Given the description of an element on the screen output the (x, y) to click on. 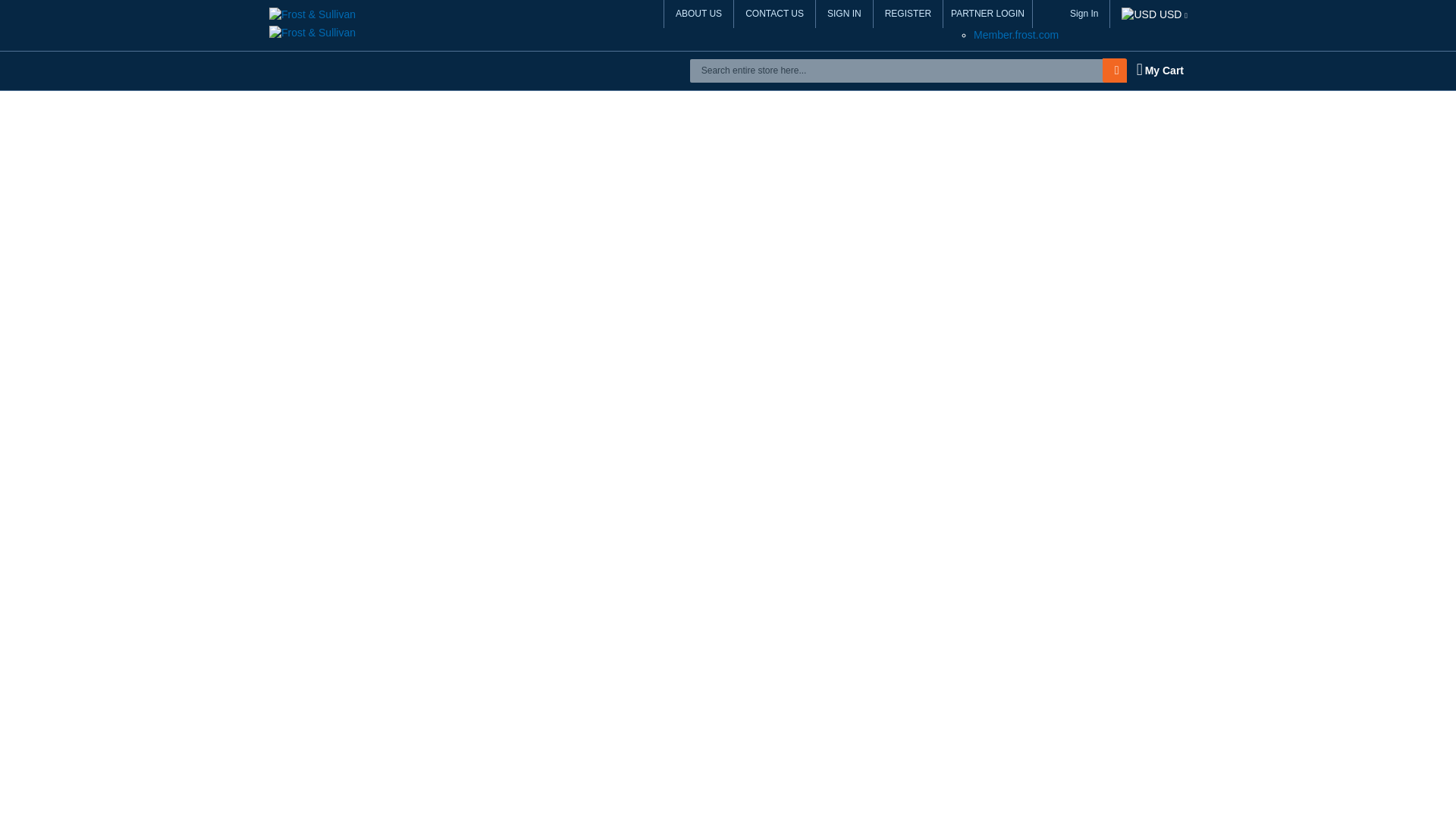
REGISTER (908, 13)
CONTACT US (774, 13)
Sign In (1083, 13)
SIGN IN (844, 13)
PARTNER LOGIN (987, 13)
My Cart (1159, 69)
Search (1117, 70)
Search (1117, 70)
Member.frost.com (1016, 34)
ABOUT US (698, 13)
